Given the description of an element on the screen output the (x, y) to click on. 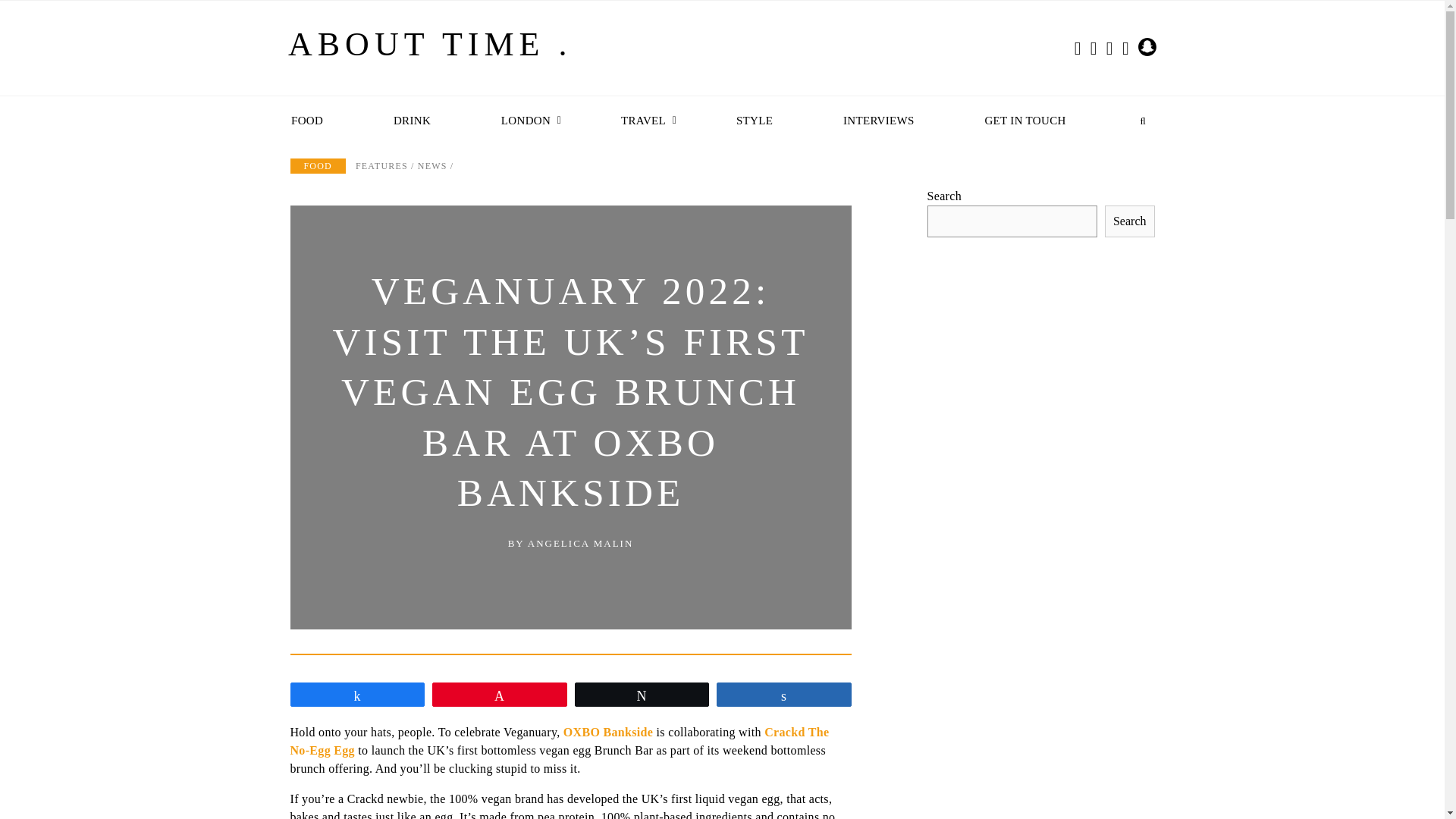
Go to the Features category archives. (381, 165)
ANGELICA MALIN (580, 542)
Crackd The No-Egg Egg (558, 740)
Posts by Angelica Malin (580, 542)
Go to the News category archives. (431, 165)
DRINK (413, 120)
Go to the Food category archives. (316, 165)
GET IN TOUCH (1026, 120)
INTERVIEWS (880, 120)
TRAVEL (644, 120)
Search (1129, 221)
FOOD (309, 120)
OXBO Bankside (607, 731)
FEATURES (381, 165)
LONDON (527, 120)
